Given the description of an element on the screen output the (x, y) to click on. 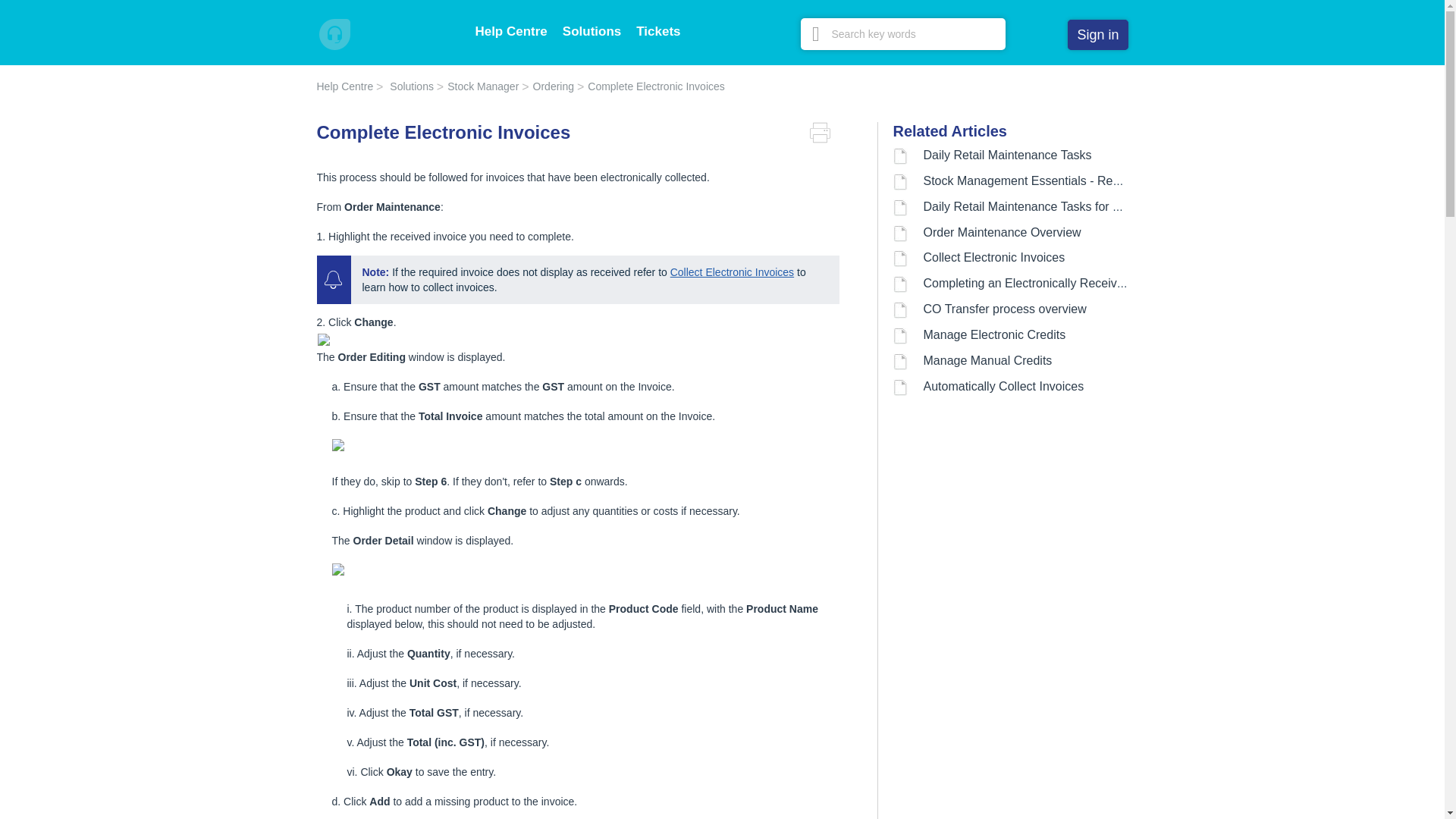
Complete Electronic Invoices (650, 86)
Solutions (591, 31)
Stock Manager (477, 86)
Print this Article (824, 133)
Print (824, 133)
Tickets (657, 31)
Ordering (547, 86)
Help Centre (510, 31)
Help Centre (345, 86)
Solutions (405, 86)
Collect Electronic Invoices (731, 272)
Sign in (1096, 34)
